Given the description of an element on the screen output the (x, y) to click on. 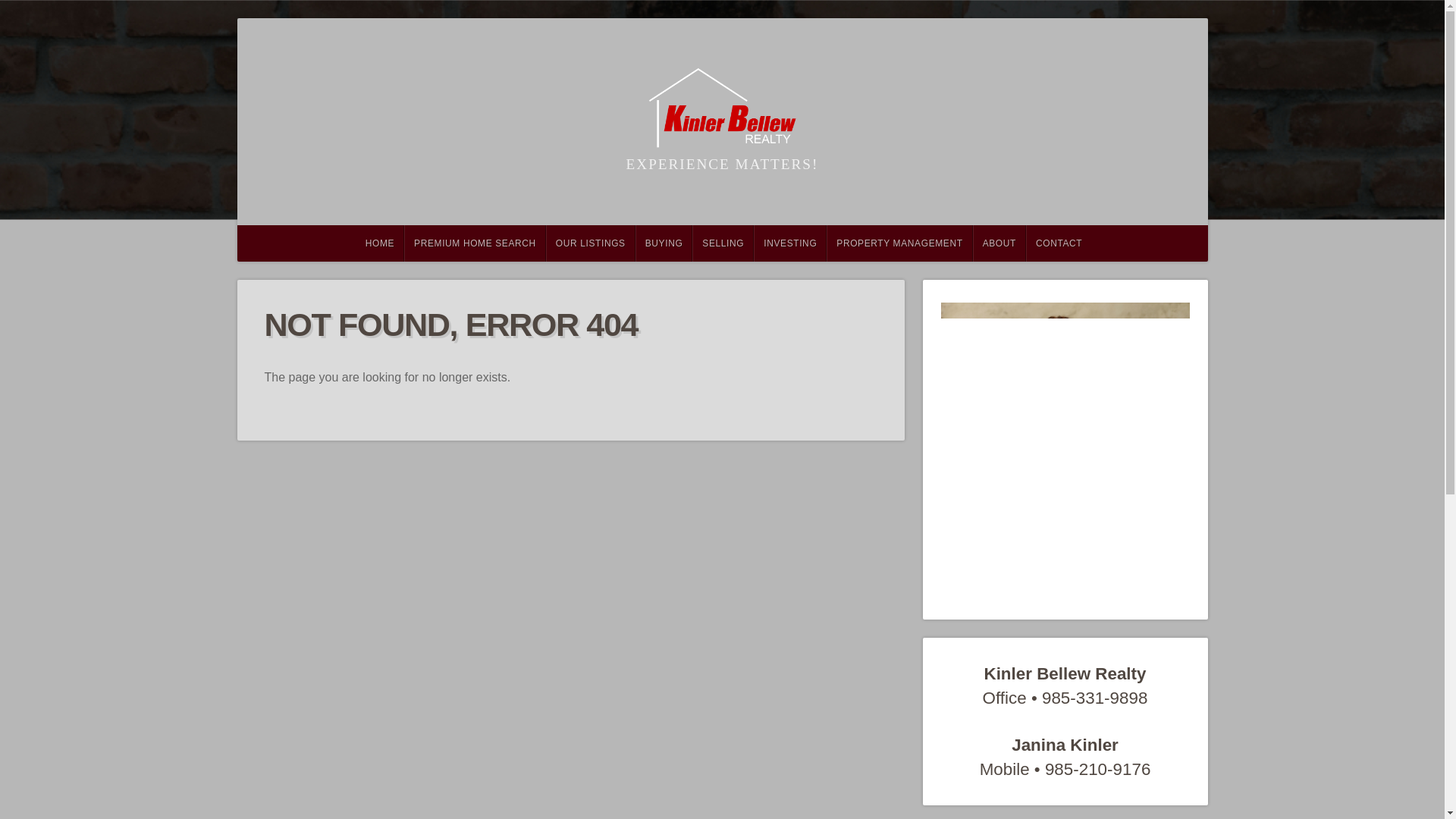
HOME (378, 243)
CONTACT (1058, 243)
PREMIUM HOME SEARCH (475, 243)
ABOUT (999, 243)
SELLING (723, 243)
OUR LISTINGS (590, 243)
BUYING (663, 243)
PROPERTY MANAGEMENT (899, 243)
INVESTING (790, 243)
